Given the description of an element on the screen output the (x, y) to click on. 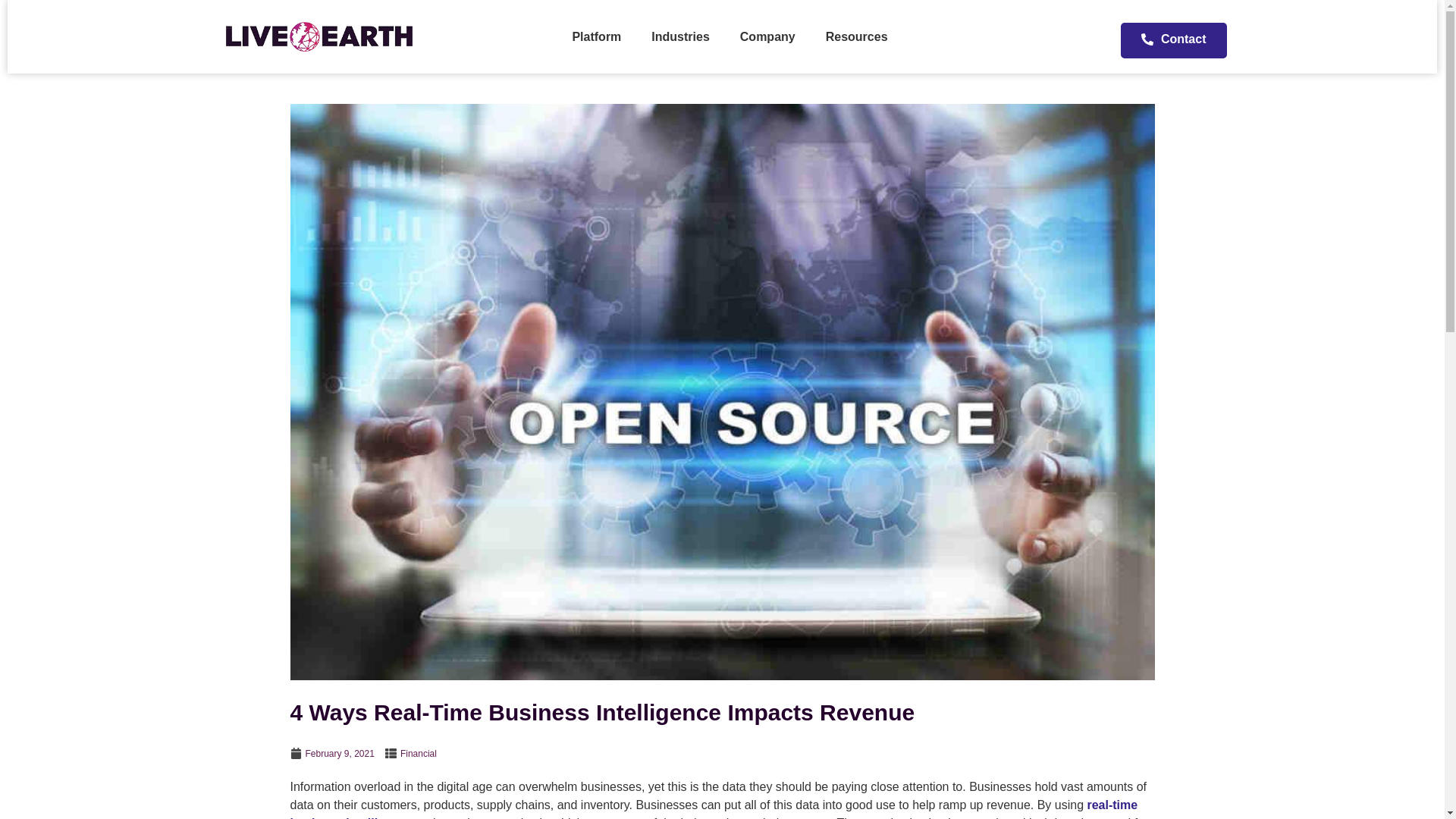
Industries (679, 36)
Resources (856, 36)
Platform (596, 36)
Contact (1174, 40)
Company (767, 36)
